Given the description of an element on the screen output the (x, y) to click on. 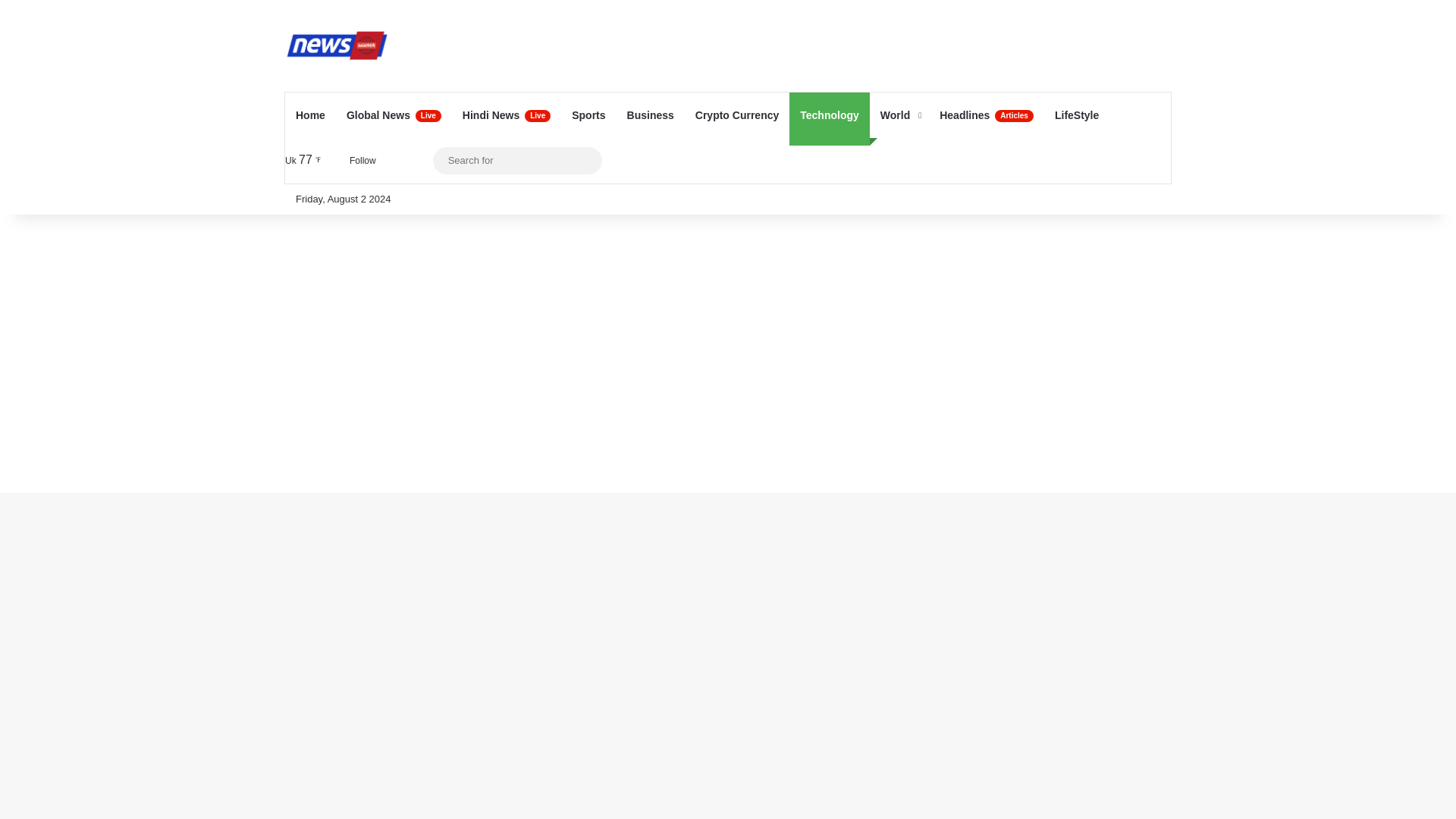
Home (310, 115)
Search for (517, 159)
Sports (587, 115)
Technology (829, 115)
Crypto Currency (736, 115)
Follow (359, 160)
Global News Live (393, 115)
World (898, 115)
Scattered Clouds (307, 159)
Search for (587, 160)
Business (649, 115)
Hindi News Live (505, 115)
BABA News (337, 45)
Headlines Articles (985, 115)
LifeStyle (1076, 115)
